Given the description of an element on the screen output the (x, y) to click on. 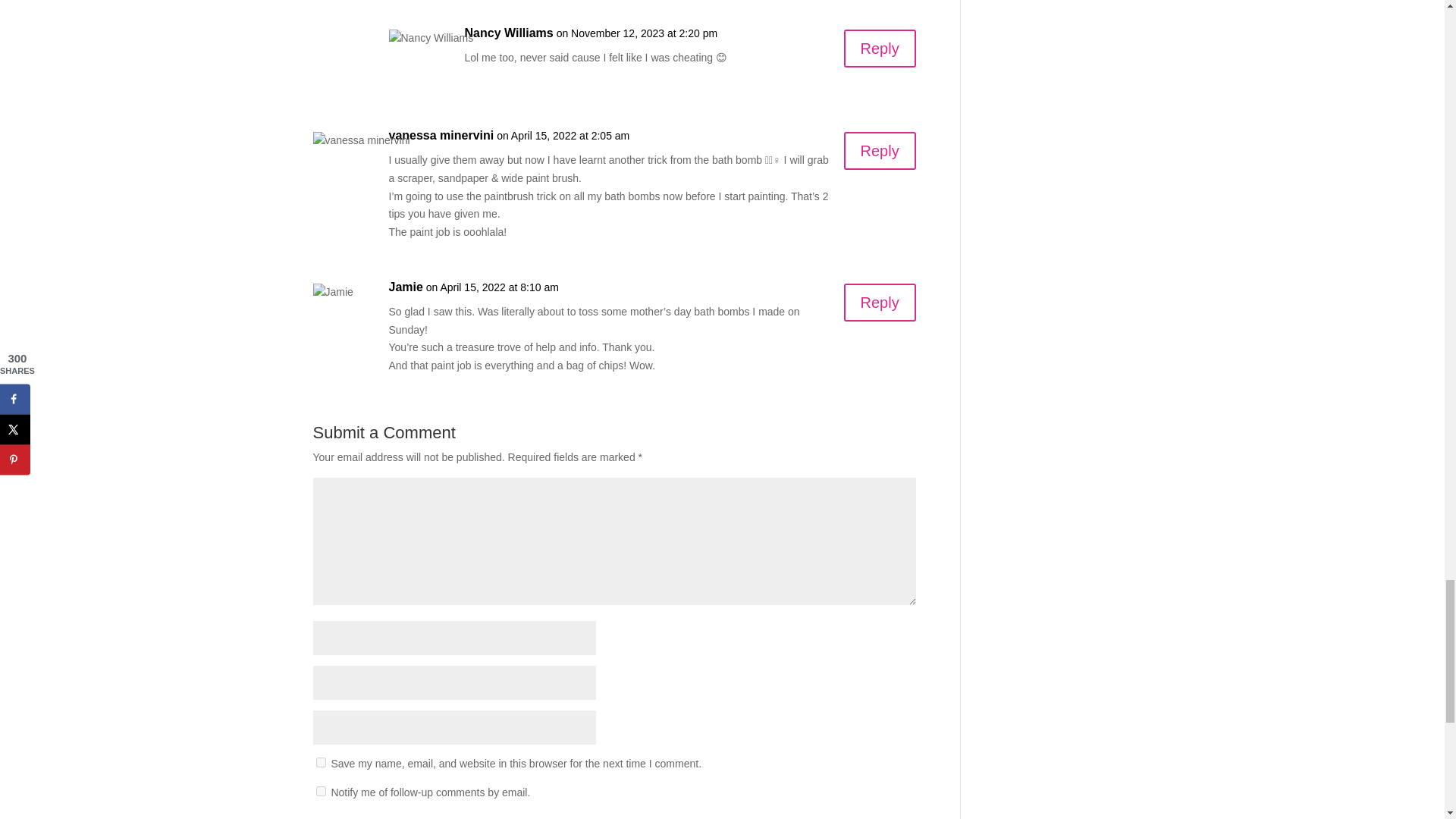
yes (319, 762)
subscribe (319, 791)
